Given the description of an element on the screen output the (x, y) to click on. 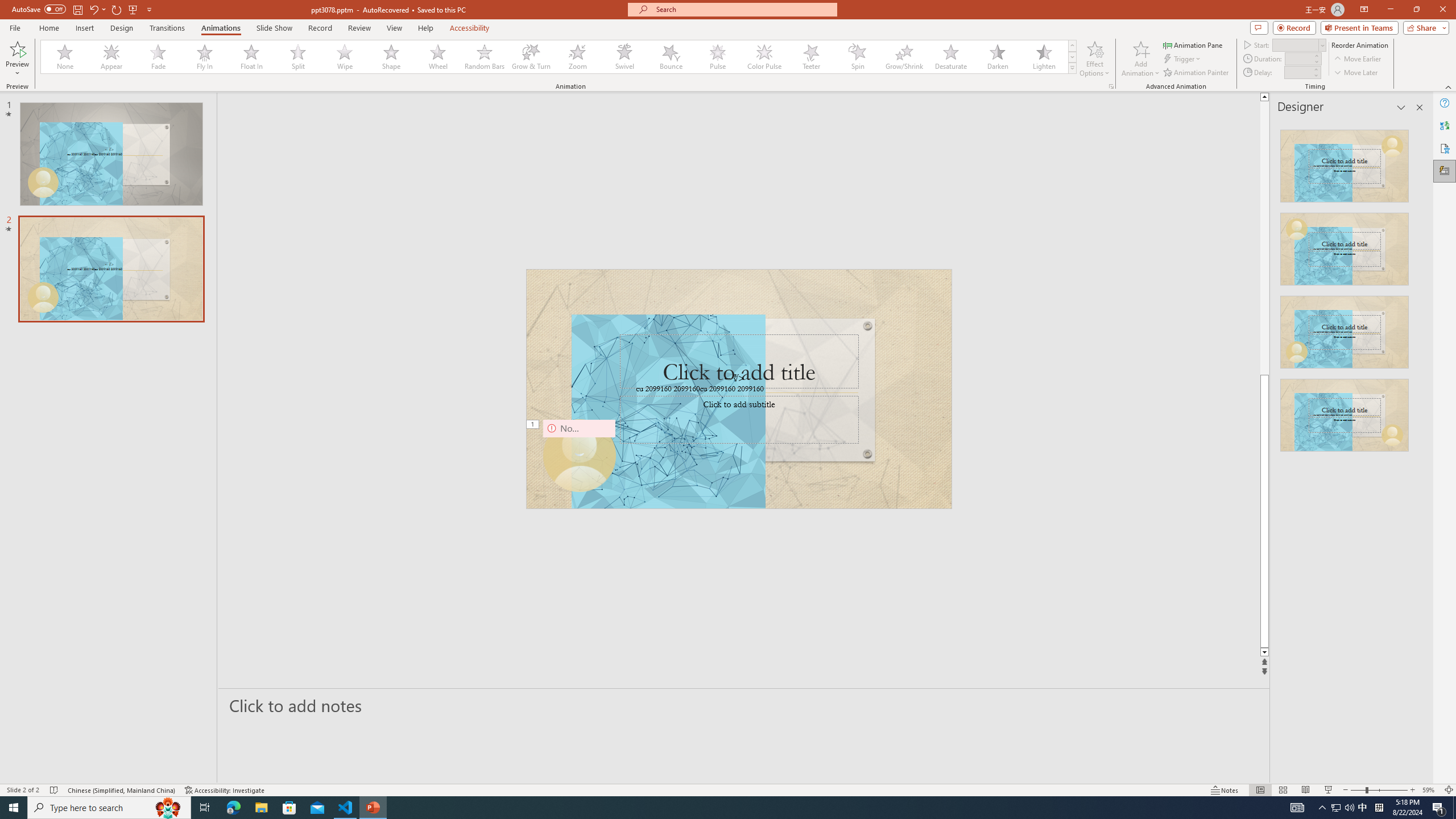
Grow & Turn (531, 56)
Fade (158, 56)
AutomationID: AnimationGallery (558, 56)
Grow/Shrink (903, 56)
Wheel (437, 56)
